Given the description of an element on the screen output the (x, y) to click on. 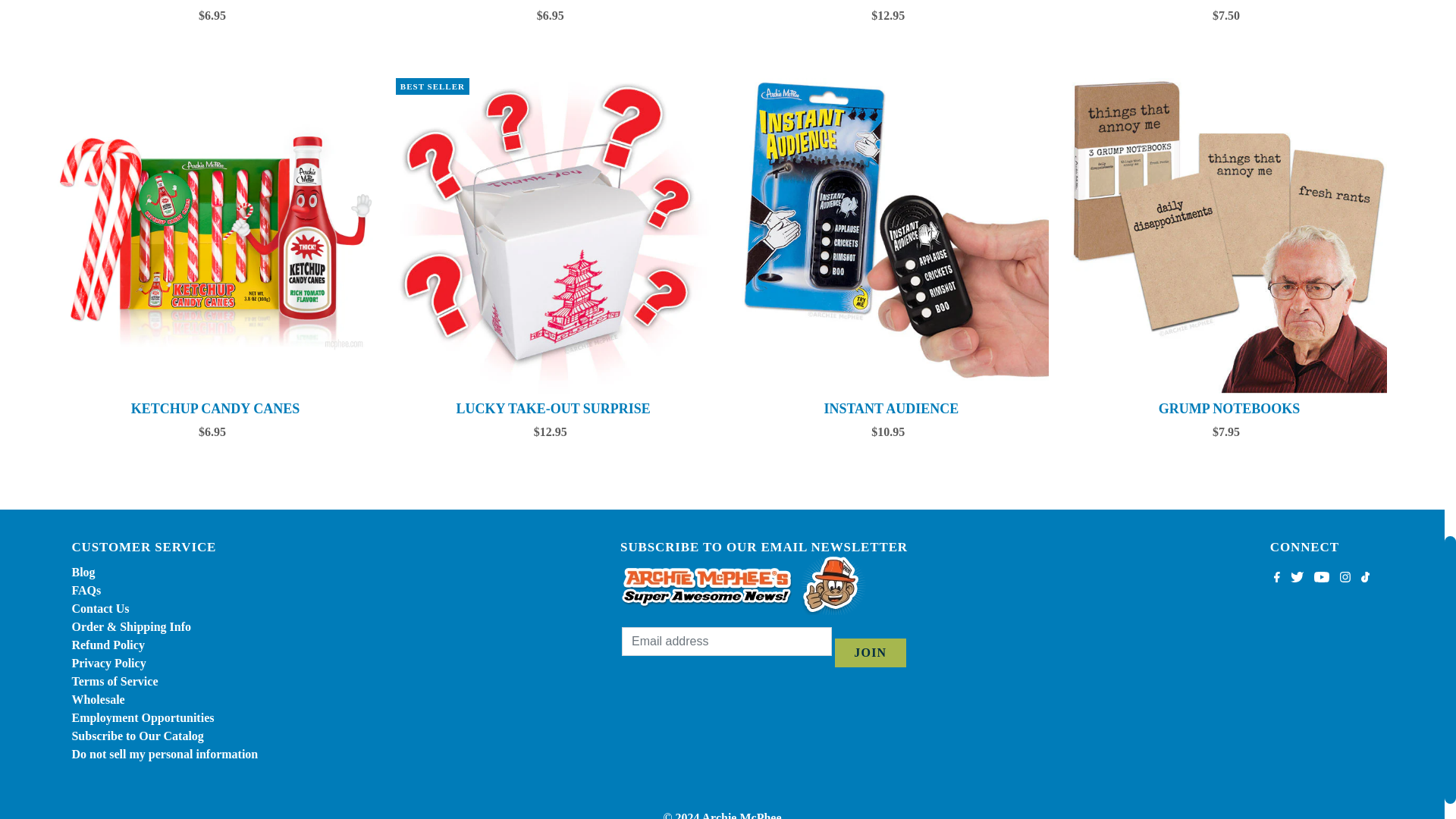
Ketchup Candy Canes (215, 235)
Instant Audience (891, 235)
Lucky Take-Out Surprise (553, 235)
JOIN (869, 652)
Grump Notebooks (1229, 235)
